Given the description of an element on the screen output the (x, y) to click on. 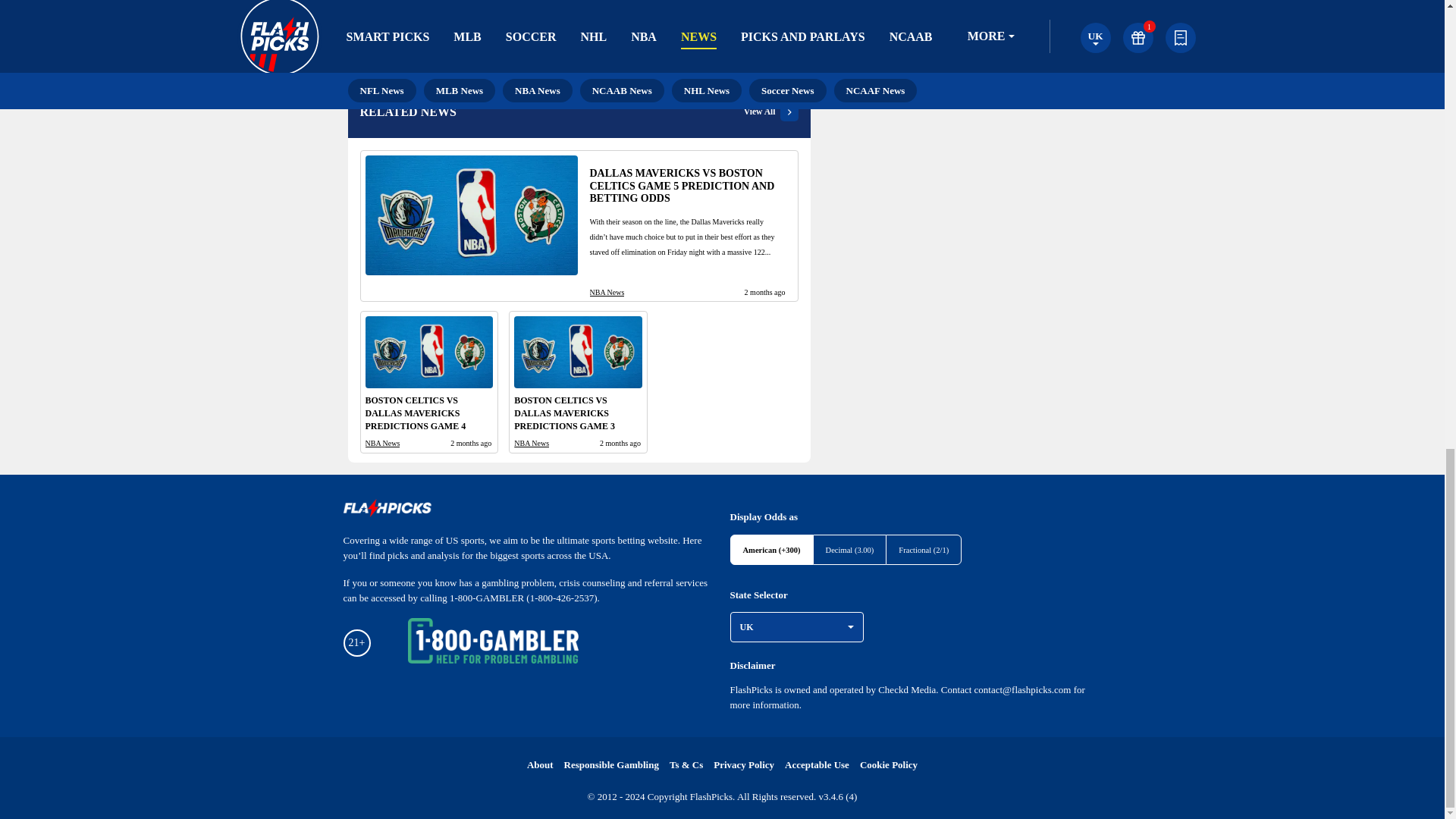
SUBSCRIBE TODAY (716, 8)
Gambling problem helpline (493, 643)
View All (770, 112)
